Given the description of an element on the screen output the (x, y) to click on. 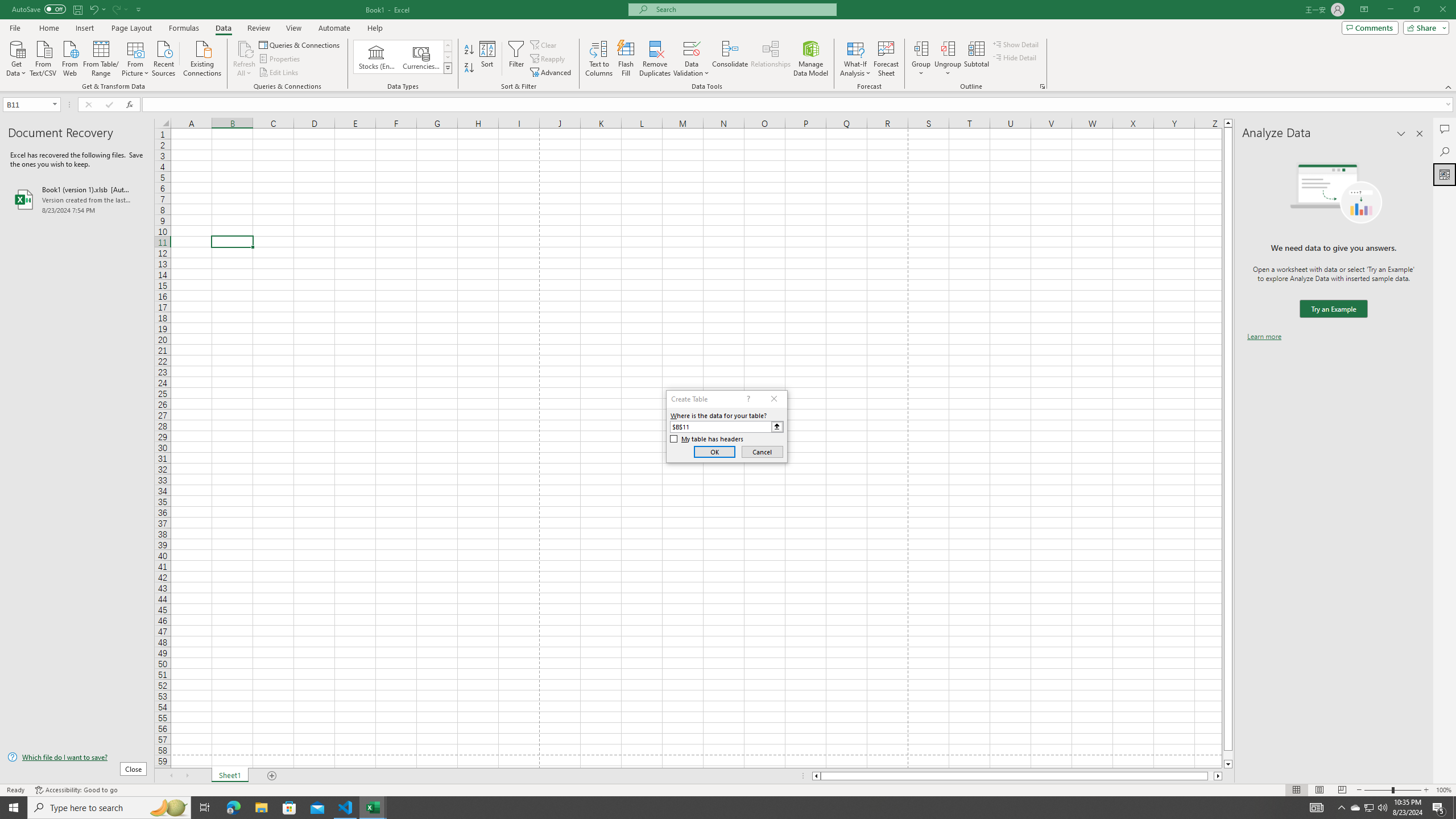
Zoom In (1426, 790)
From Text/CSV (43, 57)
Class: NetUIScrollBar (1016, 775)
Forecast Sheet (885, 58)
Book1 (version 1).xlsb  [AutoRecovered] (77, 199)
Zoom Out (1377, 790)
Page Layout (131, 28)
Task Pane Options (1400, 133)
Insert (83, 28)
Row Down (448, 56)
Flash Fill (625, 58)
Stocks (English) (375, 56)
Scroll Right (187, 775)
Group... (921, 58)
